Given the description of an element on the screen output the (x, y) to click on. 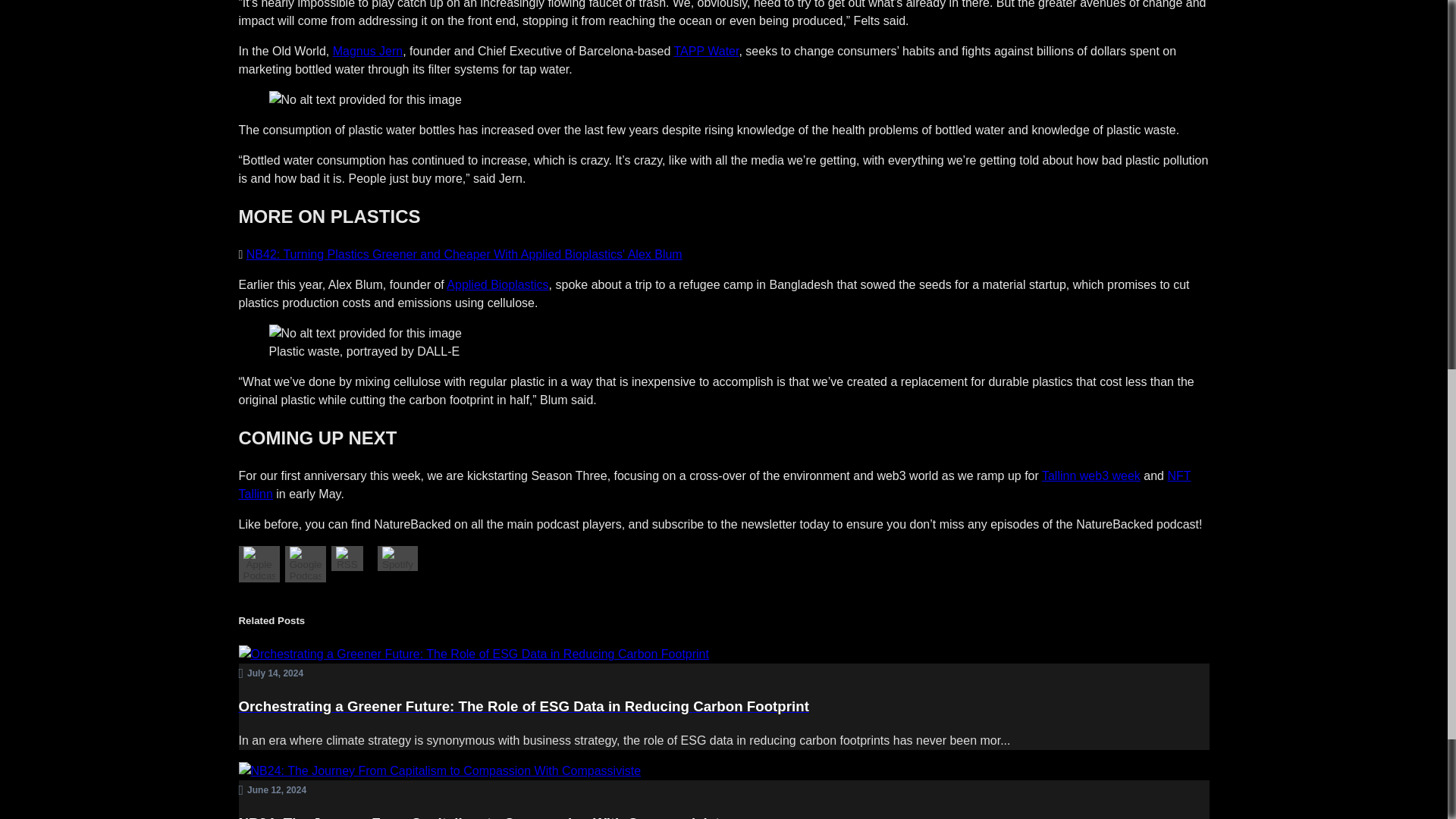
Apple Podcasts (258, 574)
Applied Bioplastics (497, 284)
Google Podcasts (305, 574)
Magnus Jern (368, 51)
Spotify (397, 563)
Tallinn web3 week (1091, 475)
TAPP Water (705, 51)
NFT Tallinn (714, 484)
RSS (346, 563)
